Given the description of an element on the screen output the (x, y) to click on. 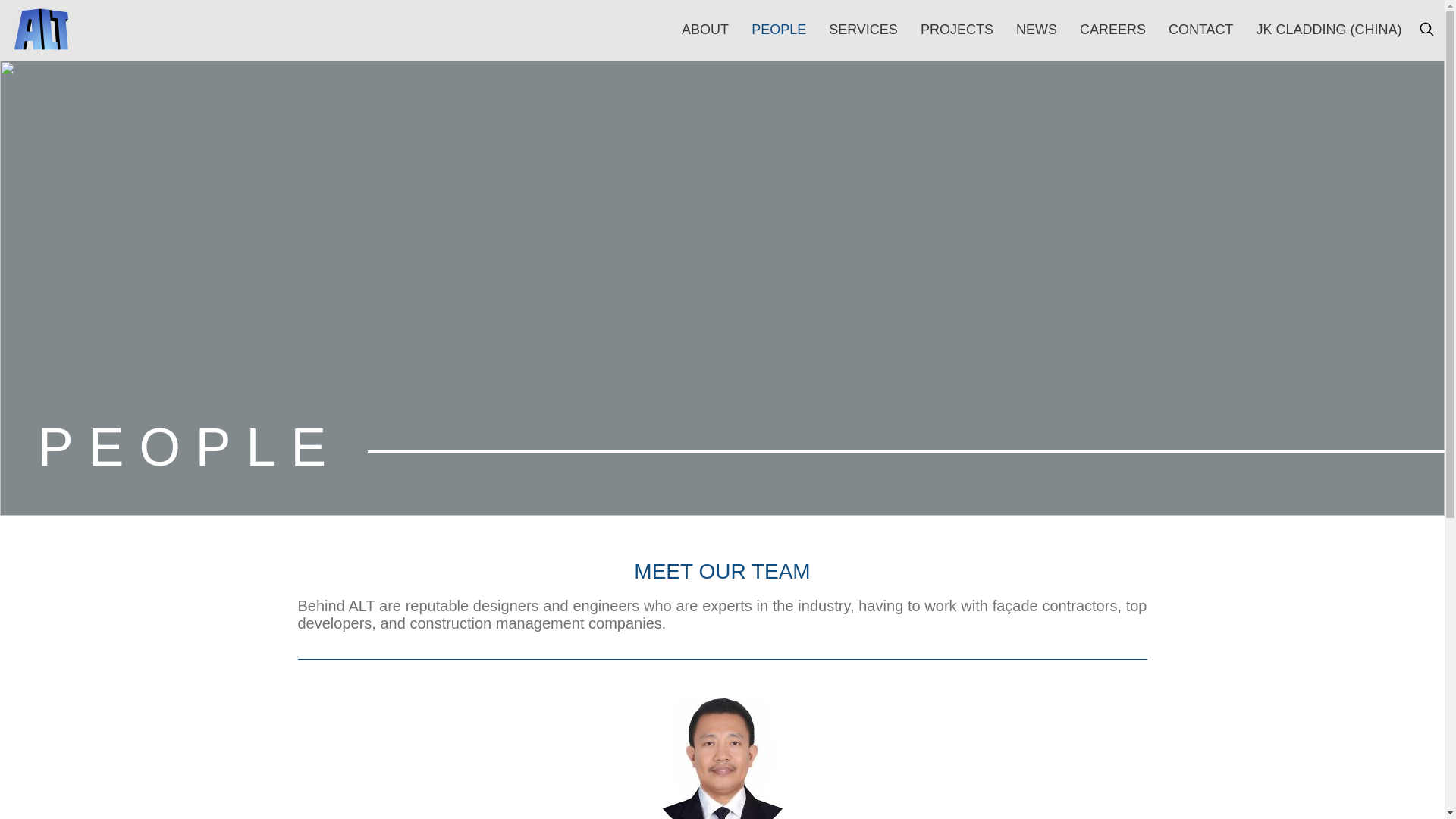
The Software Report (406, 111)
Nominate (986, 103)
GC (430, 357)
Latest News (384, 174)
here (465, 775)
Contact us (1106, 13)
Features (336, 174)
Headlines (862, 103)
Login (962, 12)
View all posts in Features (375, 153)
Sign Up (1294, 451)
Features (375, 153)
Deal Table (1055, 103)
Top Companies (780, 103)
Awards (924, 103)
